Given the description of an element on the screen output the (x, y) to click on. 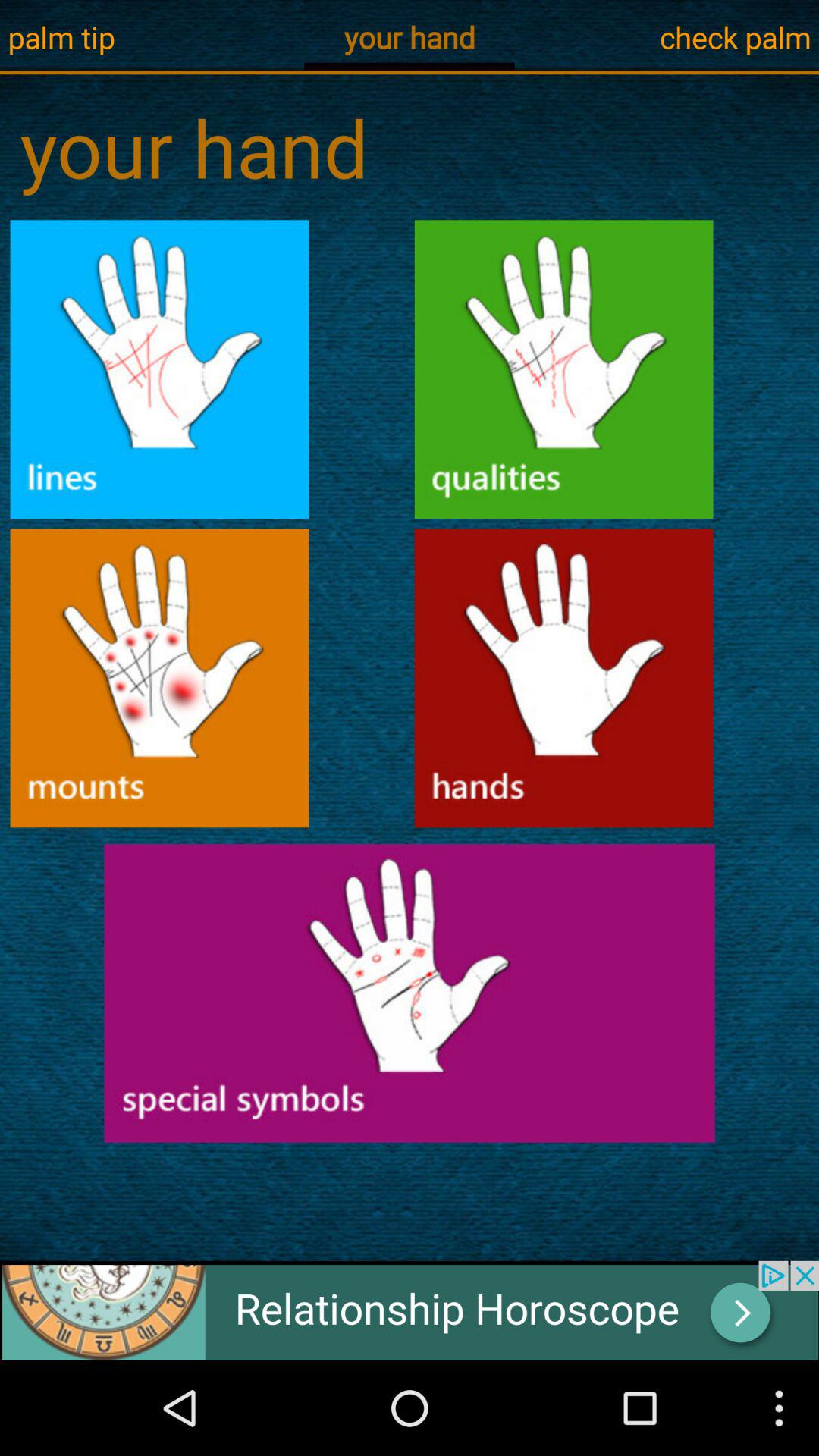
hand line option (159, 369)
